Given the description of an element on the screen output the (x, y) to click on. 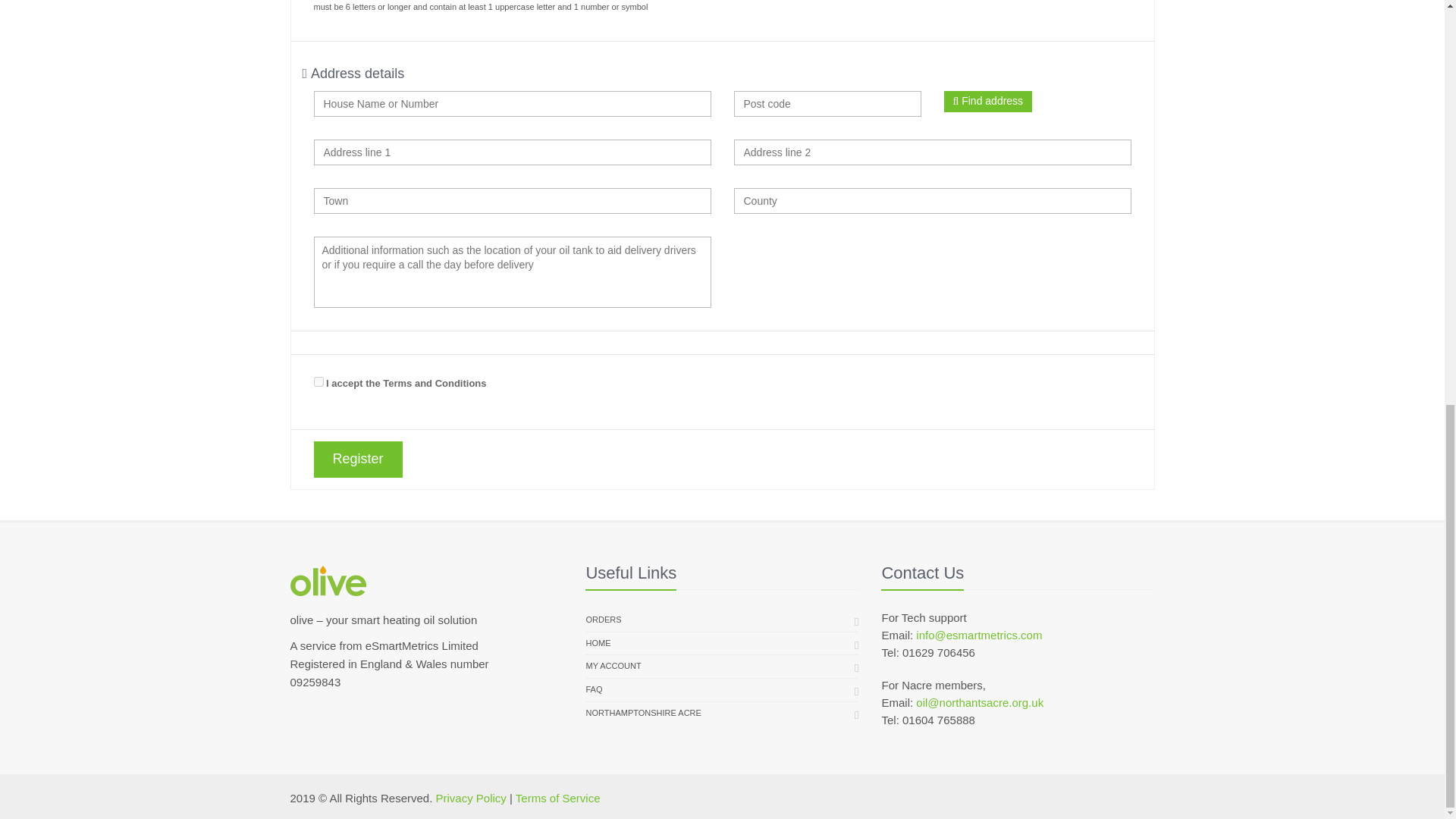
true (318, 381)
NORTHAMPTONSHIRE ACRE (642, 712)
Terms of Service (557, 797)
Find address (987, 101)
Register (358, 459)
Privacy Policy (470, 797)
the Terms and Conditions (425, 383)
ORDERS (603, 620)
HOME (597, 643)
MY ACCOUNT (612, 666)
